Given the description of an element on the screen output the (x, y) to click on. 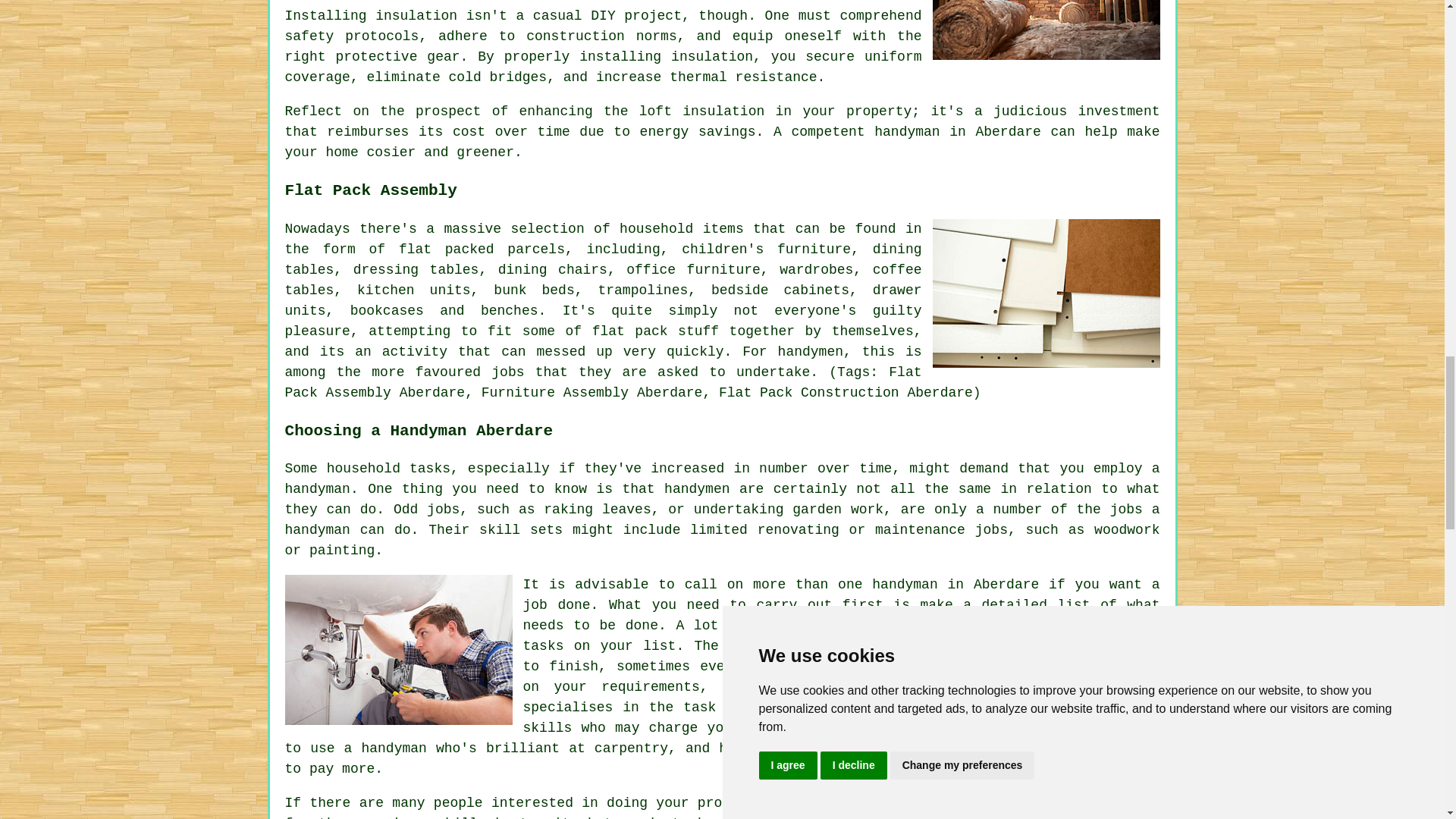
kitchen units (413, 289)
household tasks (387, 468)
Loft Insulation Aberdare (1046, 29)
